Given the description of an element on the screen output the (x, y) to click on. 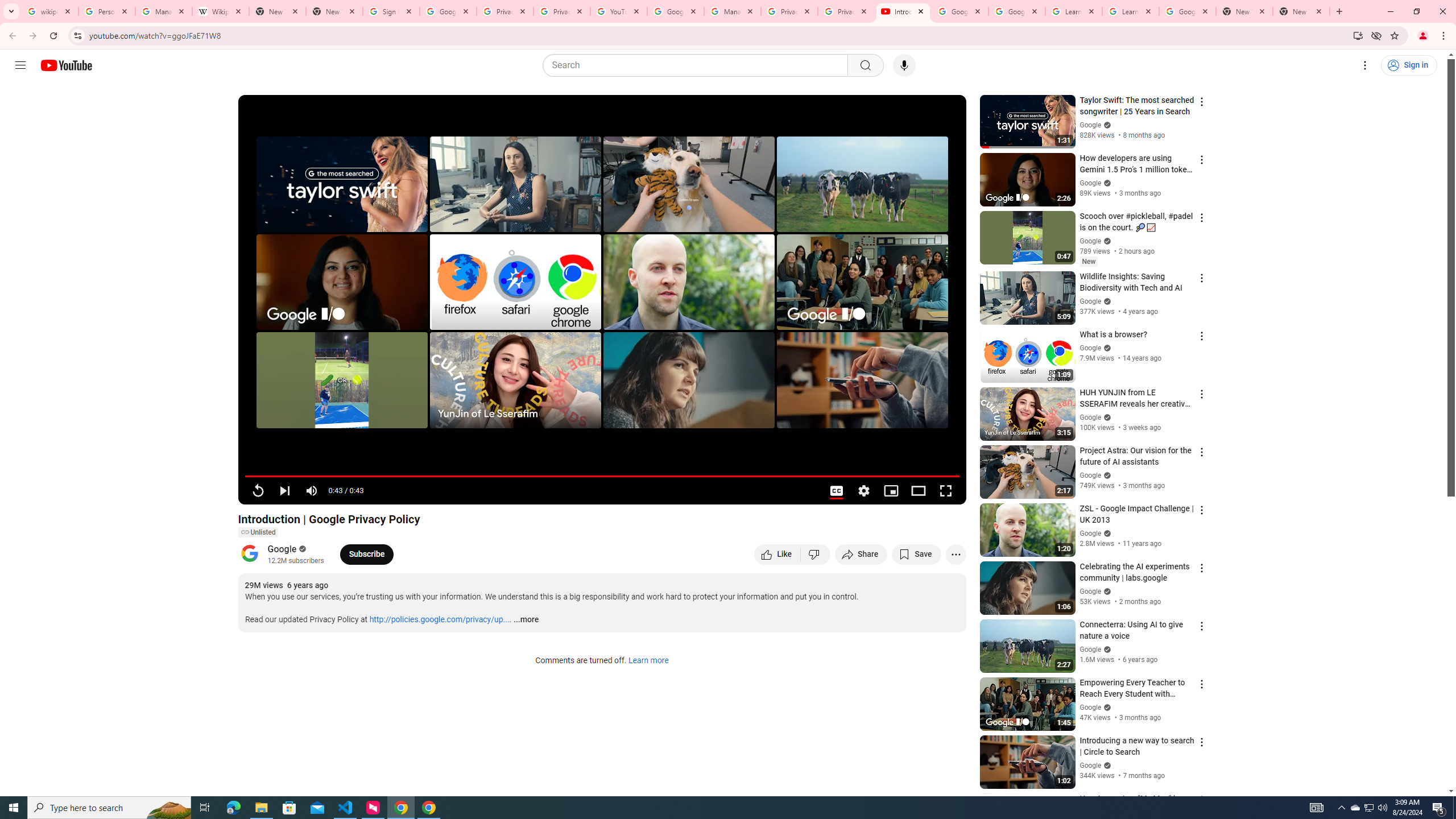
Next (SHIFT+n) (284, 490)
Full screen (f) (945, 490)
Settings (863, 490)
Google Account Help (675, 11)
Guide (20, 65)
...more (525, 620)
